Given the description of an element on the screen output the (x, y) to click on. 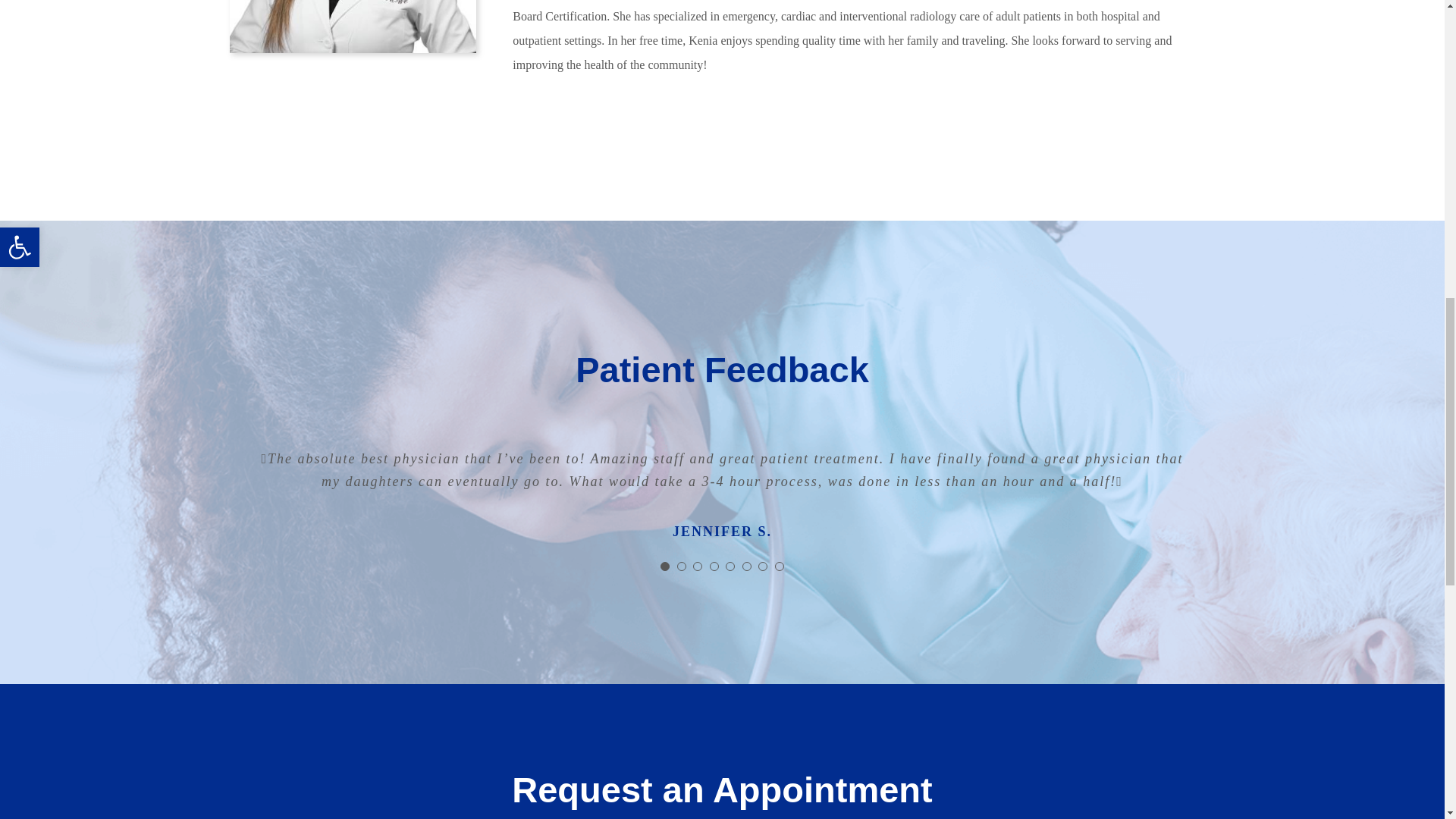
New Project 3 (352, 26)
